Given the description of an element on the screen output the (x, y) to click on. 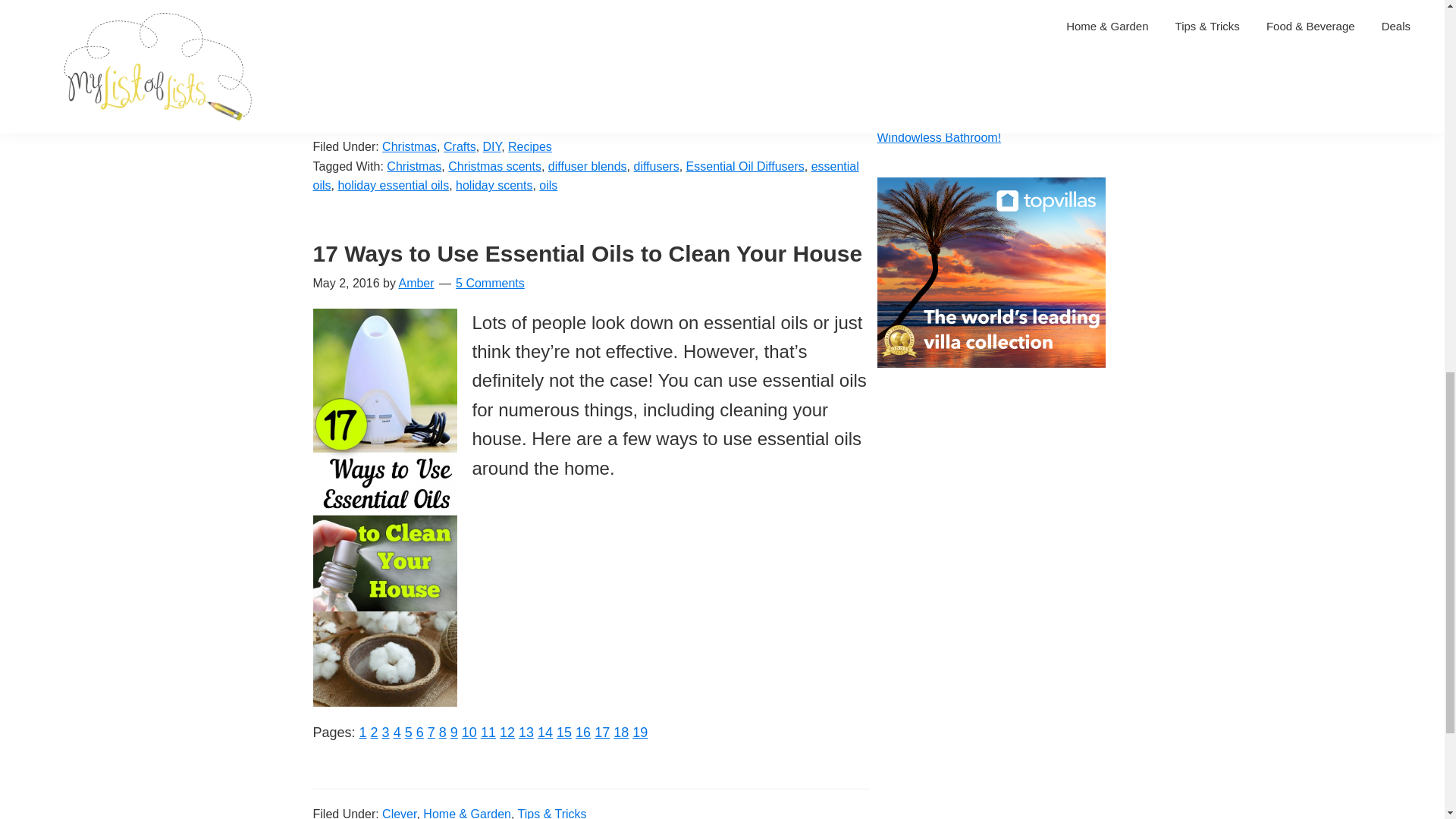
holiday scents (493, 185)
holiday essential oils (392, 185)
oils (547, 185)
17 Ways to Use Essential Oils to Clean Your House (587, 253)
diffusers (362, 732)
Crafts (431, 732)
Amber (419, 732)
essential oils (469, 732)
Christmas (397, 732)
DIY (656, 165)
